Given the description of an element on the screen output the (x, y) to click on. 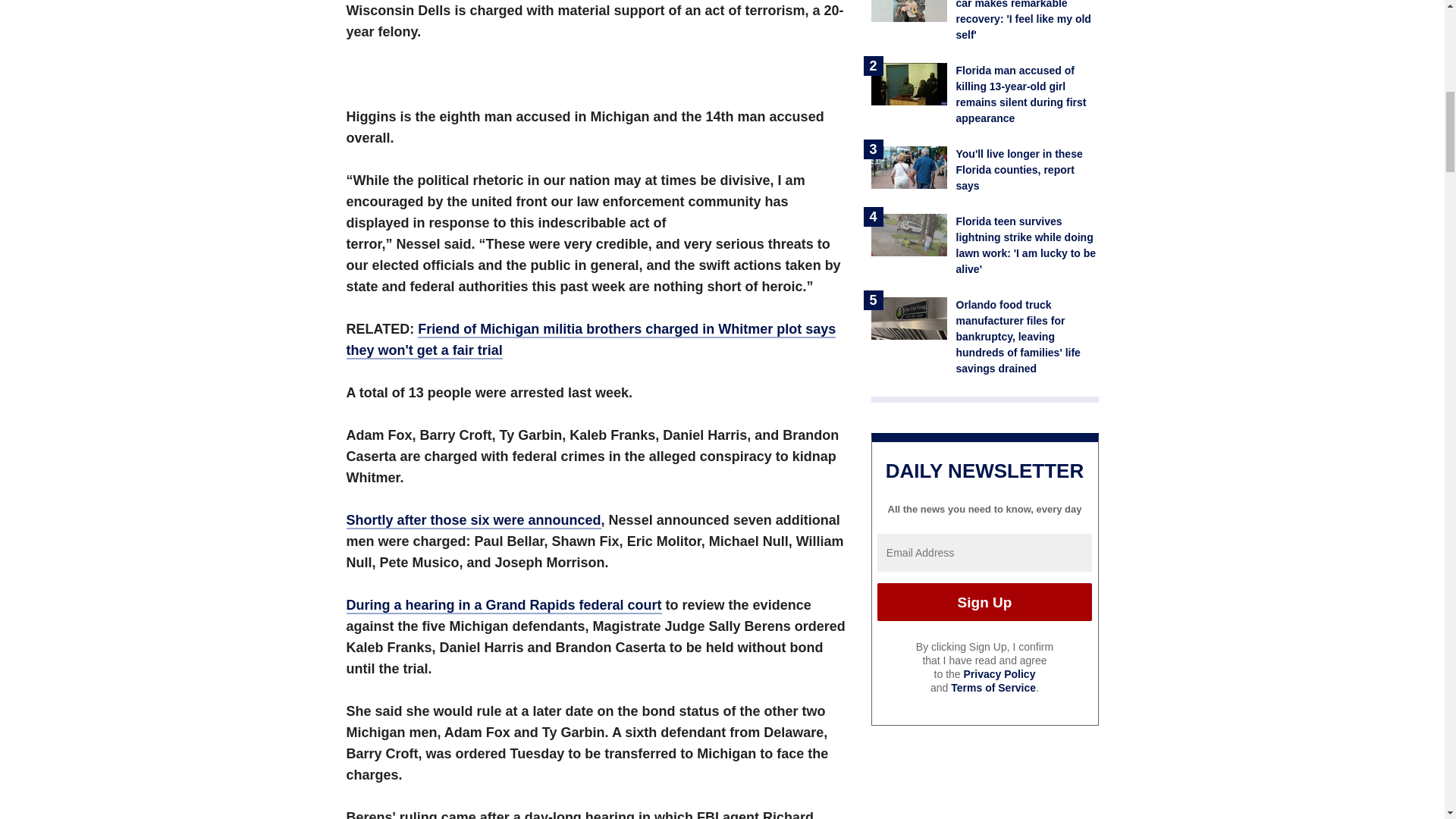
Sign Up (984, 601)
